Given the description of an element on the screen output the (x, y) to click on. 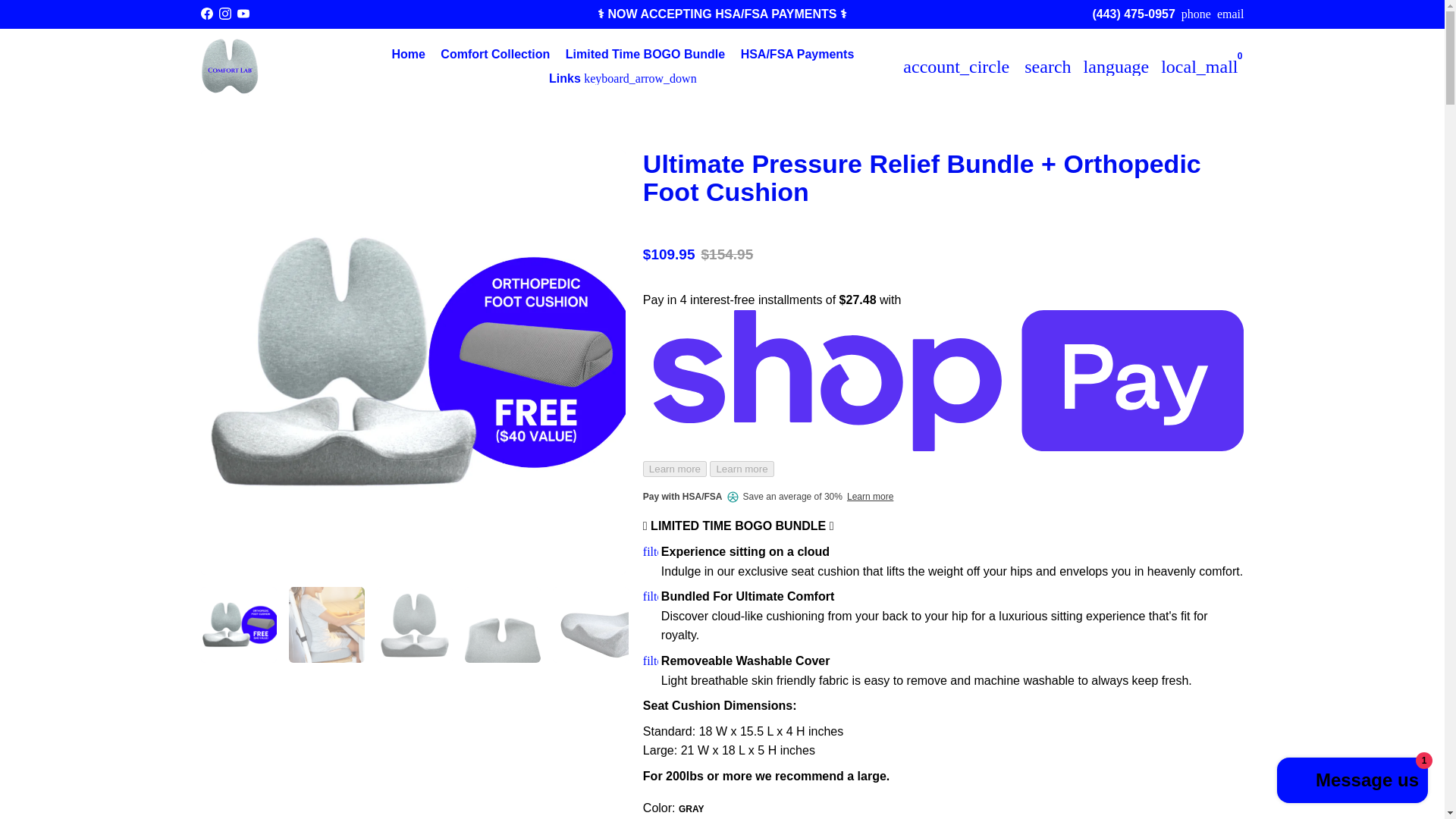
Comfort Lab on Facebook (206, 13)
search (1047, 66)
Cart (1198, 66)
Log In (955, 66)
Comfort Lab on Instagram (224, 13)
Comfort Collection (494, 54)
Limited Time BOGO Bundle (644, 54)
language (1116, 66)
Comfort Lab on Youtube (241, 13)
Home (407, 54)
phone (1195, 13)
email (1230, 13)
Search (1047, 66)
